Given the description of an element on the screen output the (x, y) to click on. 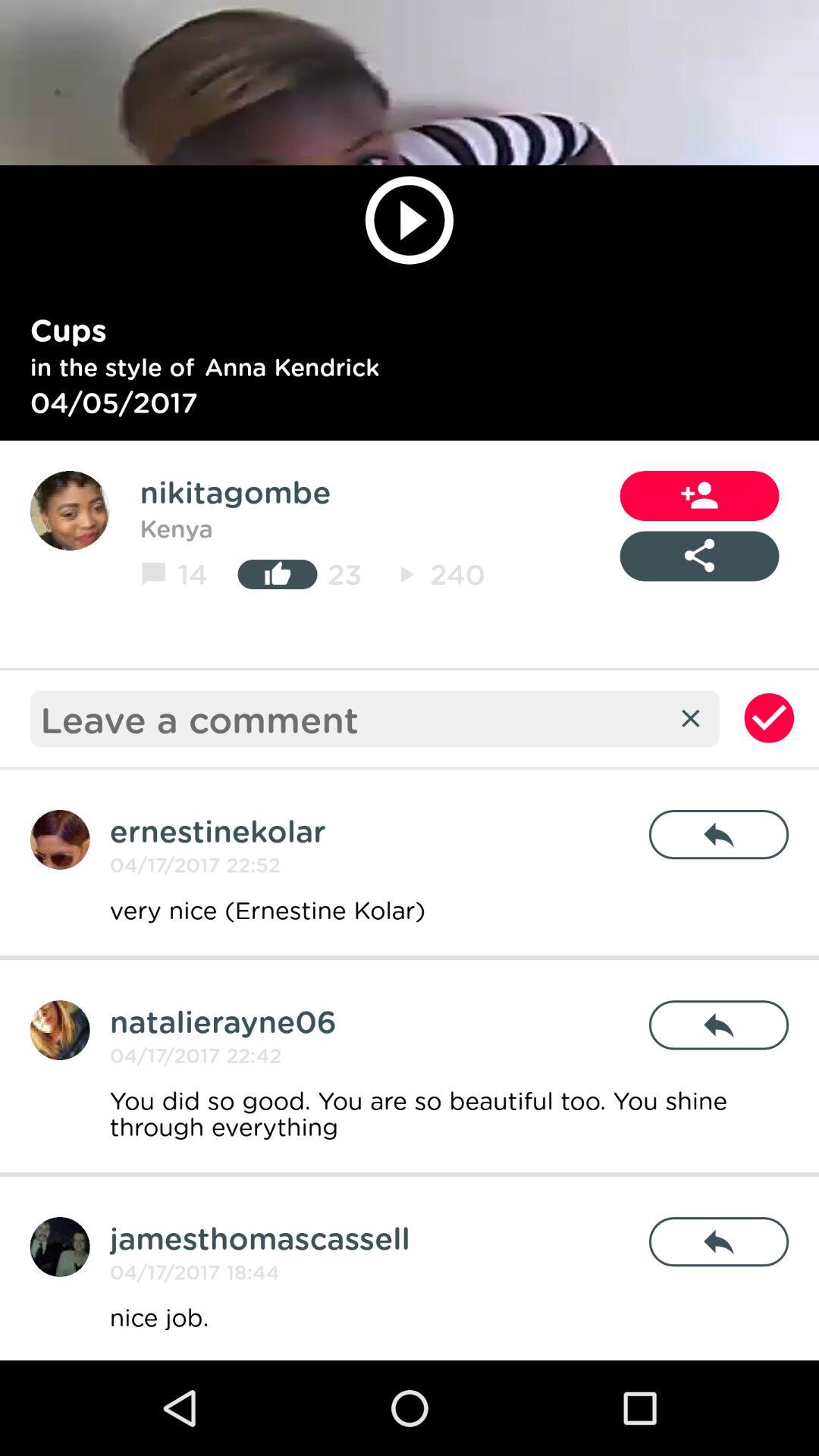
leave a comment (352, 718)
